Given the description of an element on the screen output the (x, y) to click on. 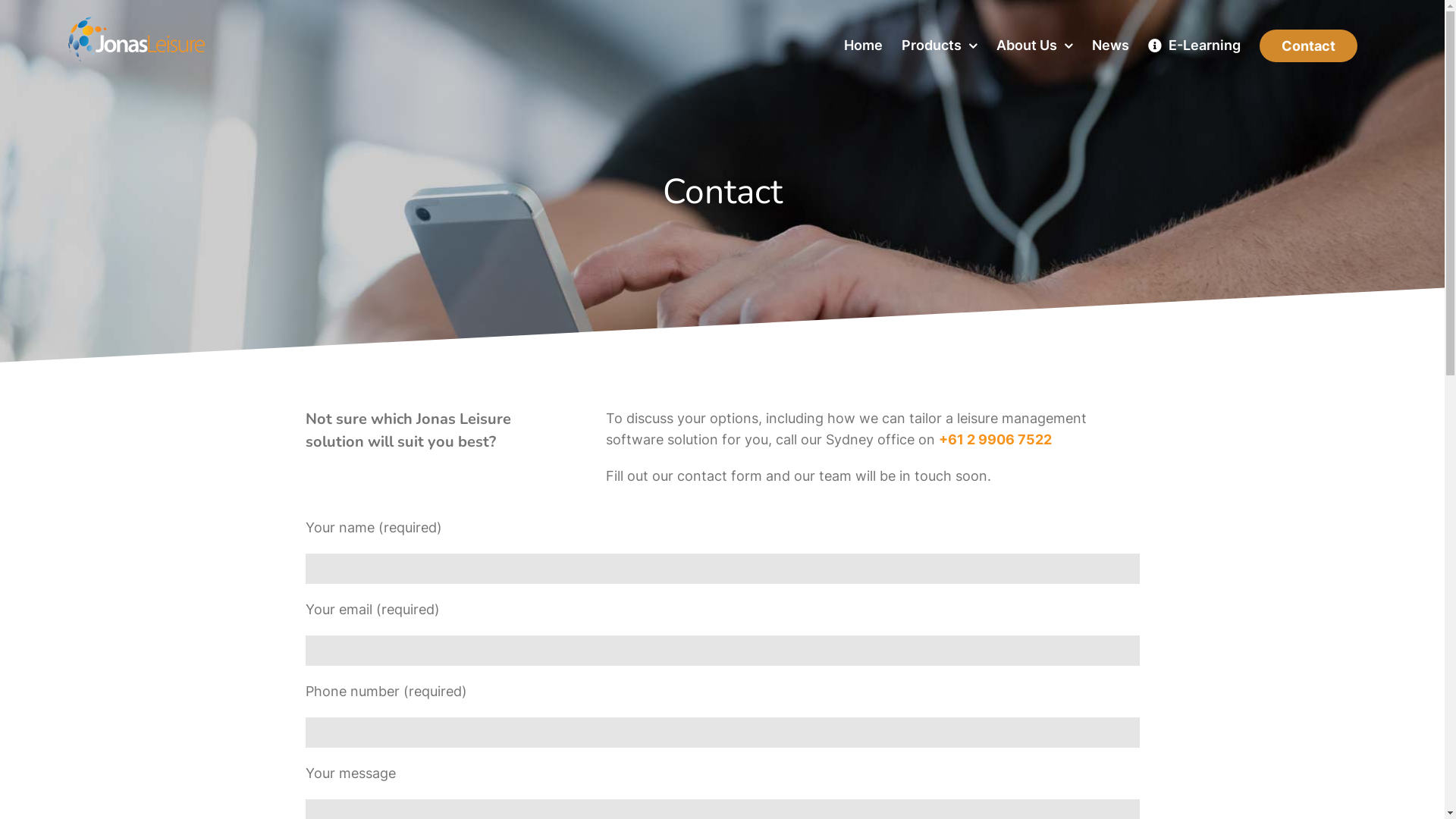
Contact Element type: text (1308, 45)
News Element type: text (1110, 45)
+61 2 9906 7522 Element type: text (994, 439)
About Us Element type: text (1034, 45)
E-Learning Element type: text (1194, 45)
Products Element type: text (939, 45)
Home Element type: text (863, 45)
